Given the description of an element on the screen output the (x, y) to click on. 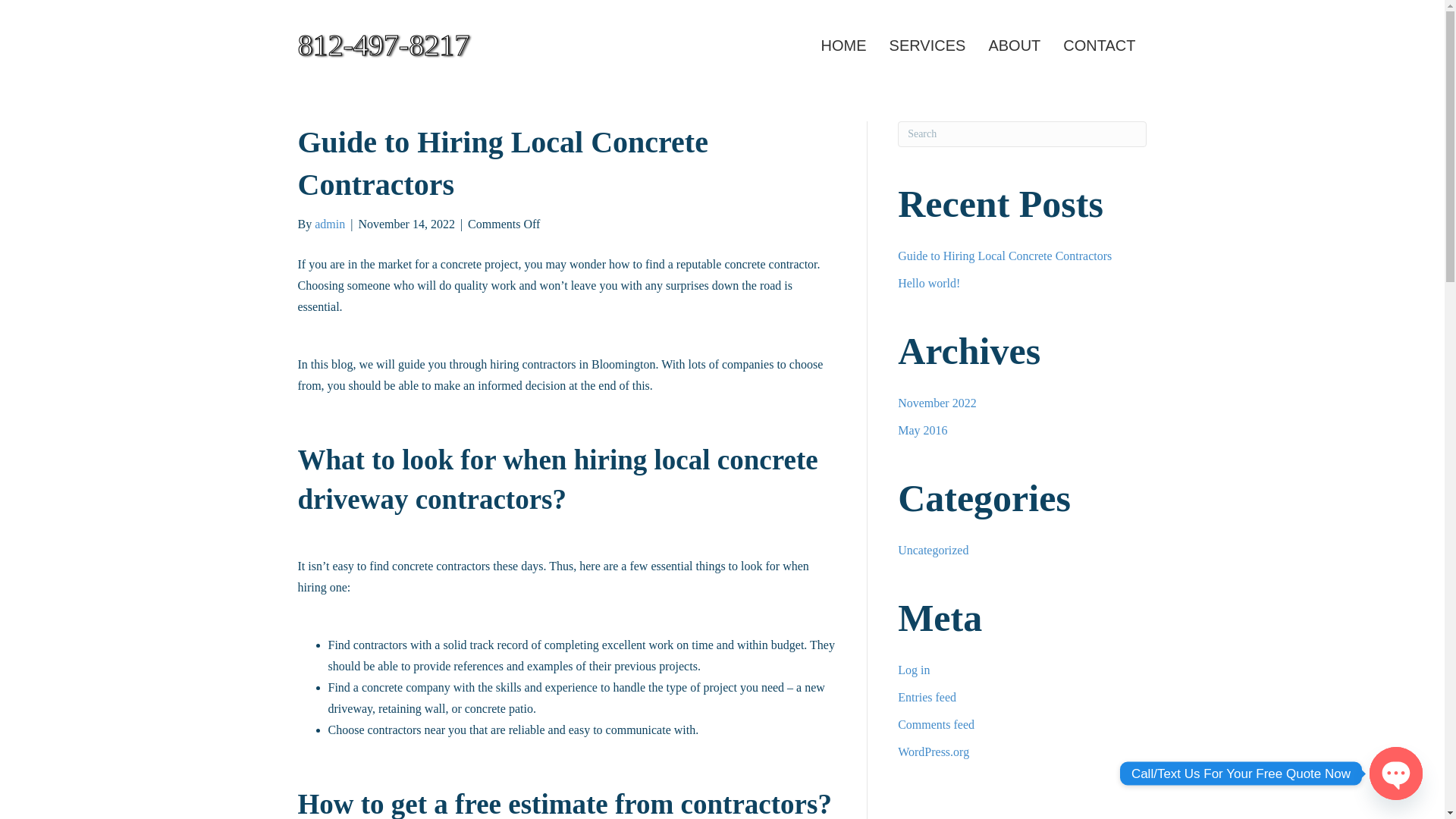
Guide to Hiring Local Concrete Contractors (1005, 255)
SERVICES (926, 45)
Comments feed (936, 724)
Type and press Enter to search. (1022, 134)
ABOUT (1013, 45)
Hello world! (928, 282)
Log in (914, 669)
WordPress.org (933, 751)
CONTACT (1099, 45)
November 2022 (937, 402)
Entries feed (927, 697)
812-497-8217 (433, 44)
Uncategorized (933, 549)
May 2016 (922, 430)
HOME (843, 45)
